Given the description of an element on the screen output the (x, y) to click on. 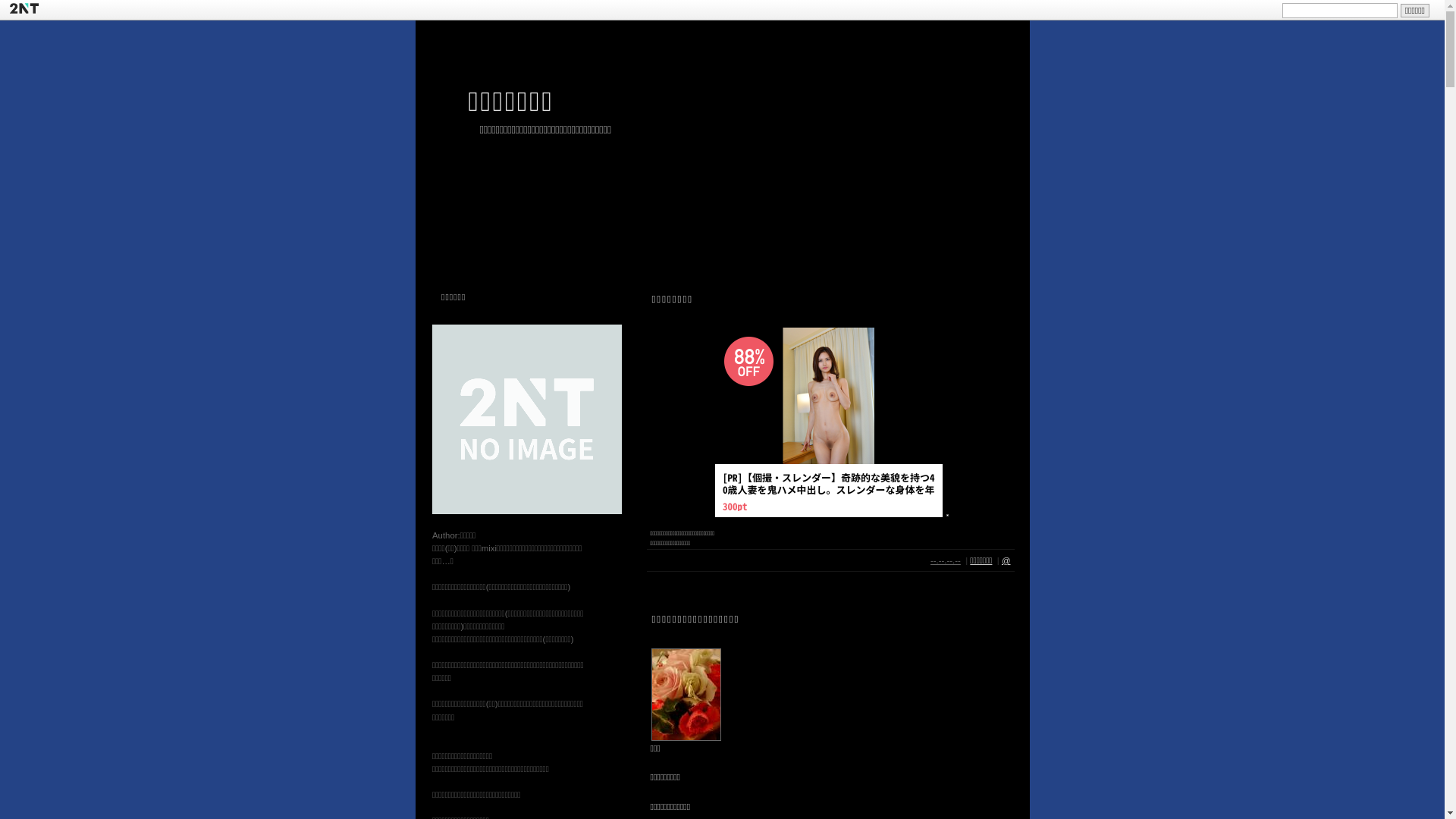
@ Element type: text (1005, 560)
--.--.--.-- Element type: text (945, 560)
